Given the description of an element on the screen output the (x, y) to click on. 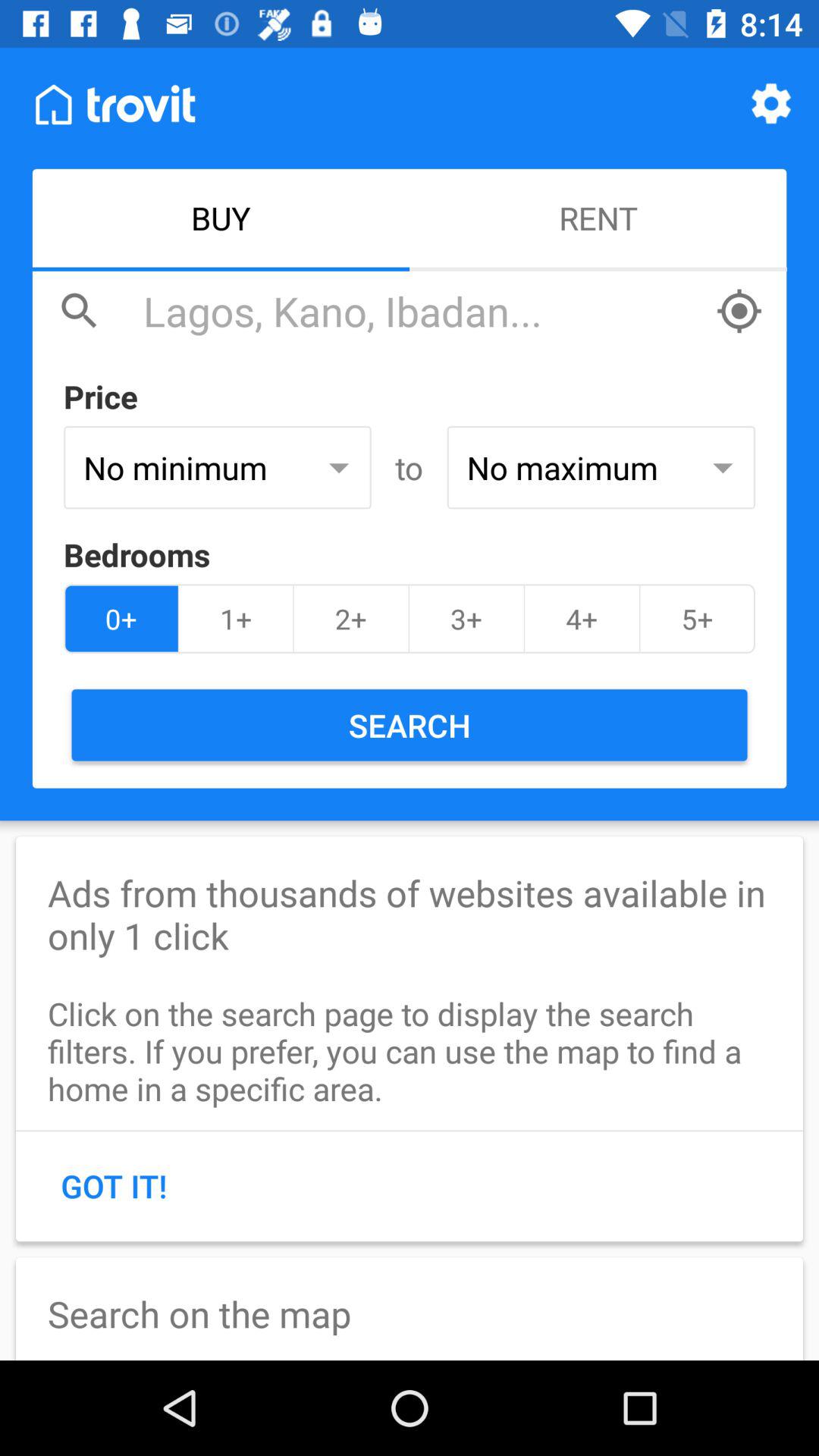
go to location (739, 310)
